Given the description of an element on the screen output the (x, y) to click on. 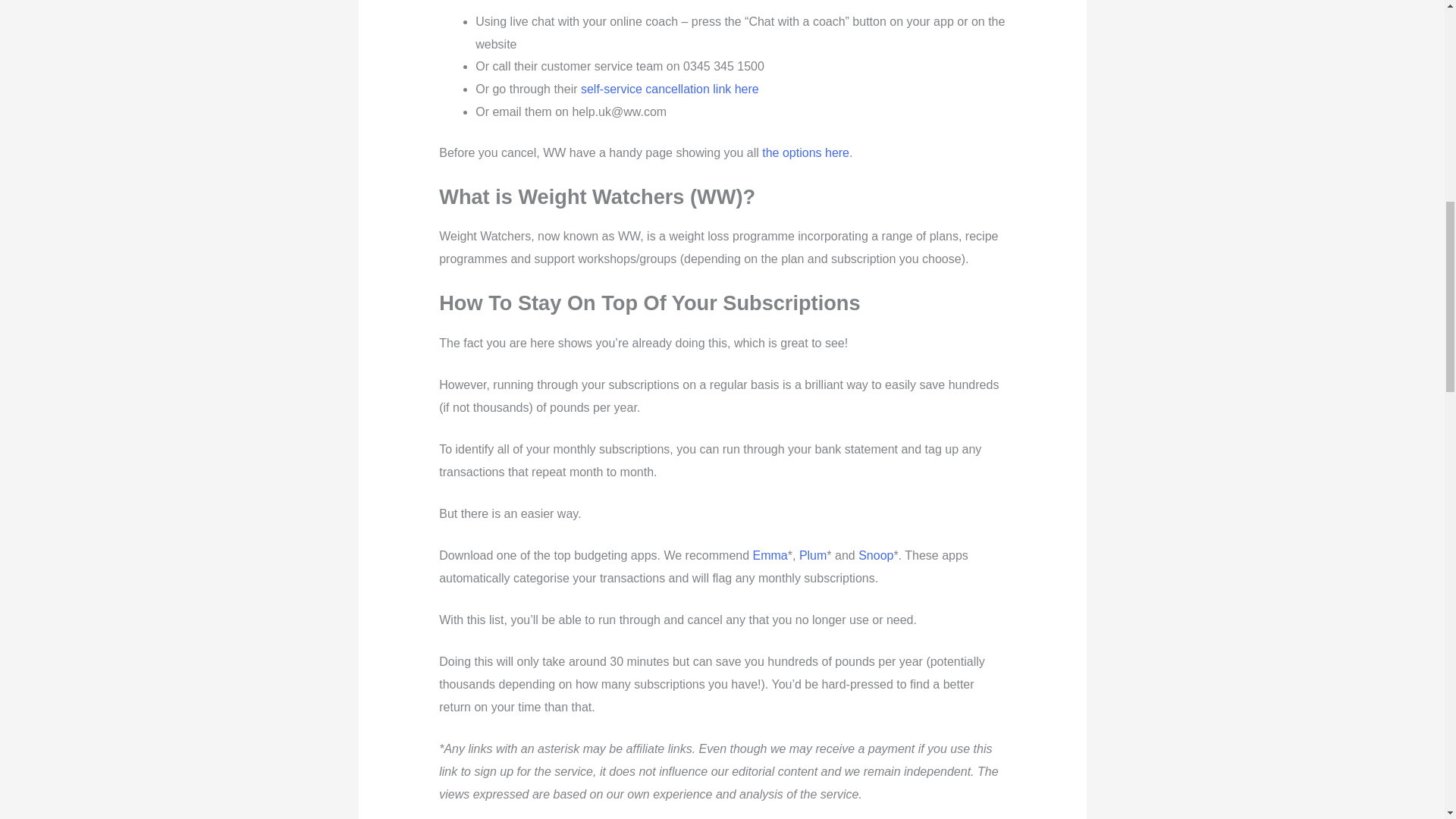
self-service cancellation link here (669, 88)
Snoop (876, 554)
Emma (769, 554)
the options here (804, 152)
Plum (813, 554)
